Given the description of an element on the screen output the (x, y) to click on. 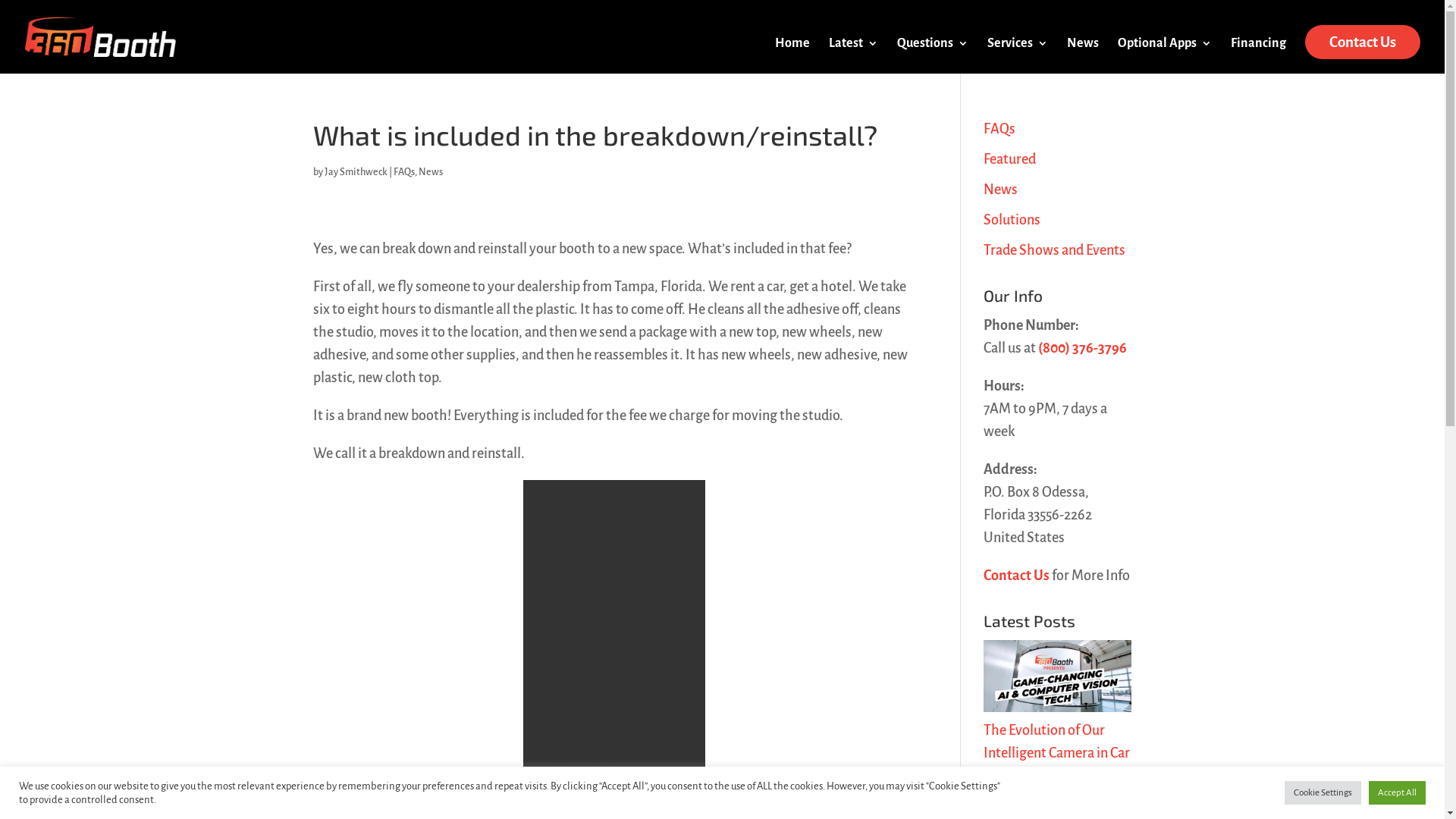
Accept All Element type: text (1396, 792)
News Element type: text (430, 171)
Services Element type: text (1017, 55)
Contact Us Element type: text (1362, 42)
Financing Element type: text (1258, 55)
Jay Smithweck Element type: text (355, 171)
News Element type: text (1082, 55)
The Evolution of Our Intelligent Camera in Car Photography Element type: text (1056, 751)
Home Element type: text (792, 55)
Contact Us Element type: text (1016, 575)
Featured Element type: text (1009, 158)
FAQs Element type: text (999, 128)
Trade Shows and Events Element type: text (1054, 249)
(800) 376-3796 Element type: text (1082, 347)
Latest Element type: text (853, 55)
Solutions Element type: text (1011, 219)
Cookie Settings Element type: text (1322, 792)
FAQs Element type: text (403, 171)
News Element type: text (1000, 189)
Optional Apps Element type: text (1164, 55)
Questions Element type: text (932, 55)
